Given the description of an element on the screen output the (x, y) to click on. 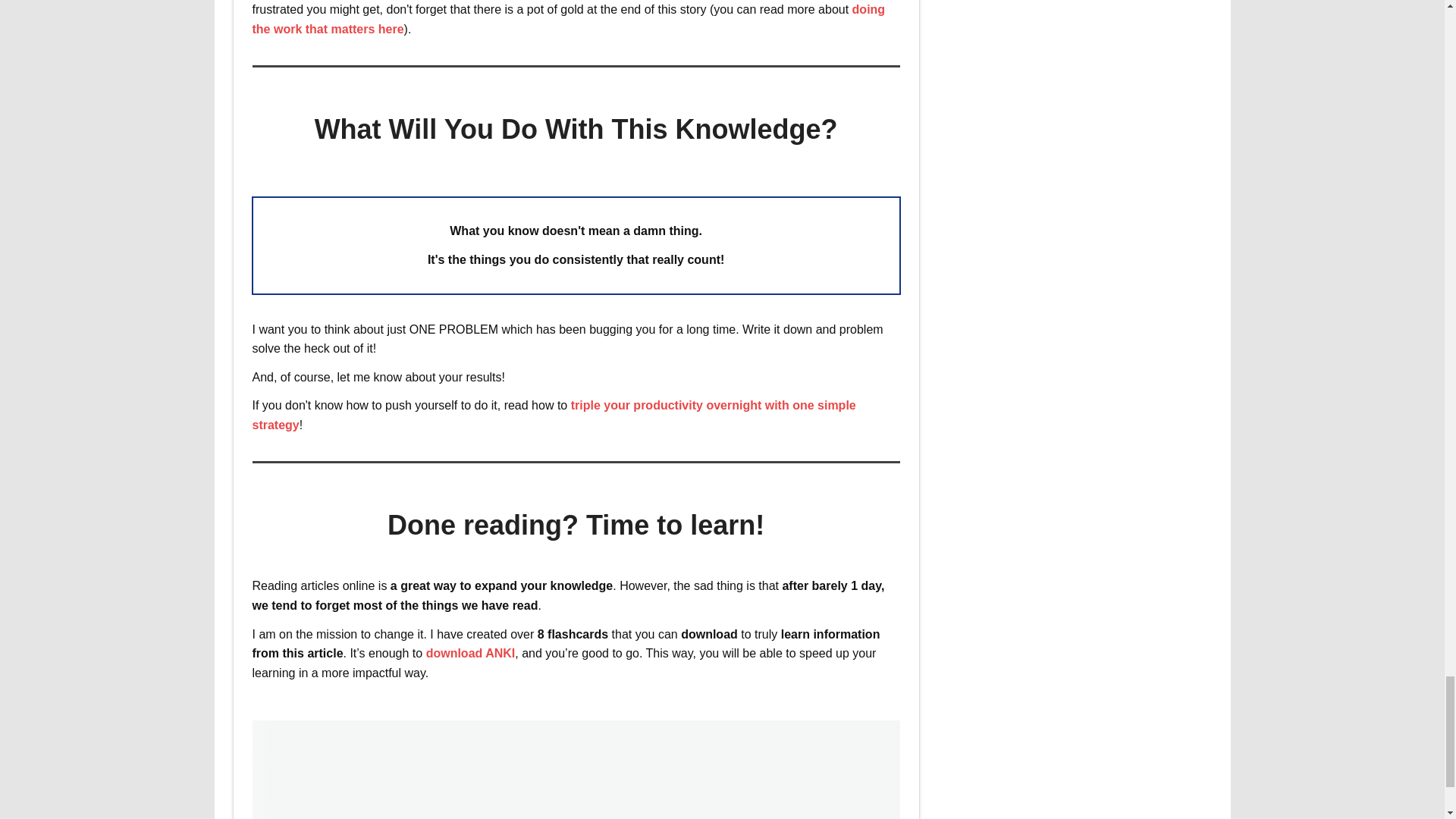
download ANKI (470, 653)
doing the work that matters here (568, 19)
triple your productivity overnight with one simple strategy (553, 414)
